Given the description of an element on the screen output the (x, y) to click on. 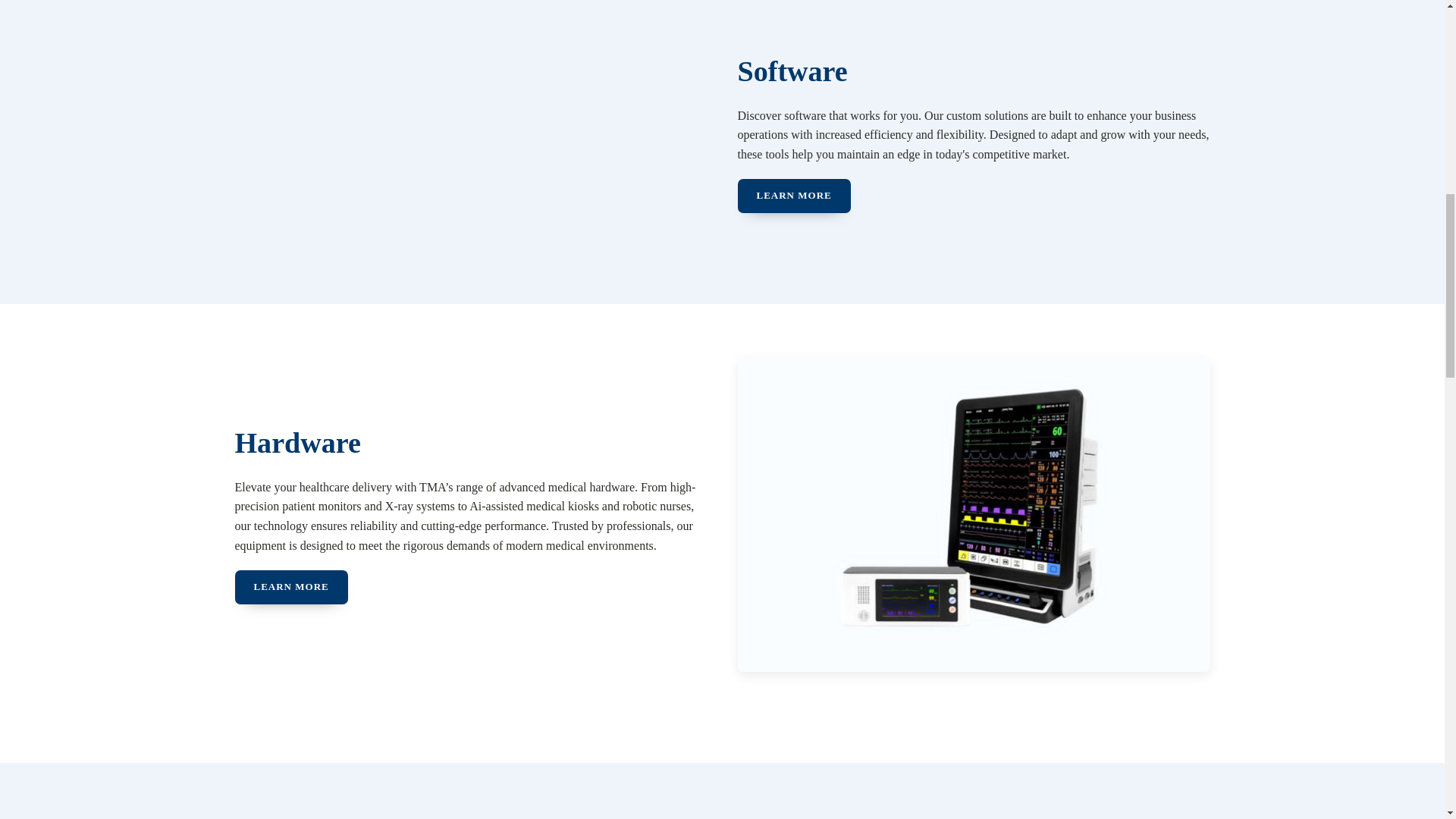
LEARN MORE (793, 195)
LEARN MORE (290, 587)
